Given the description of an element on the screen output the (x, y) to click on. 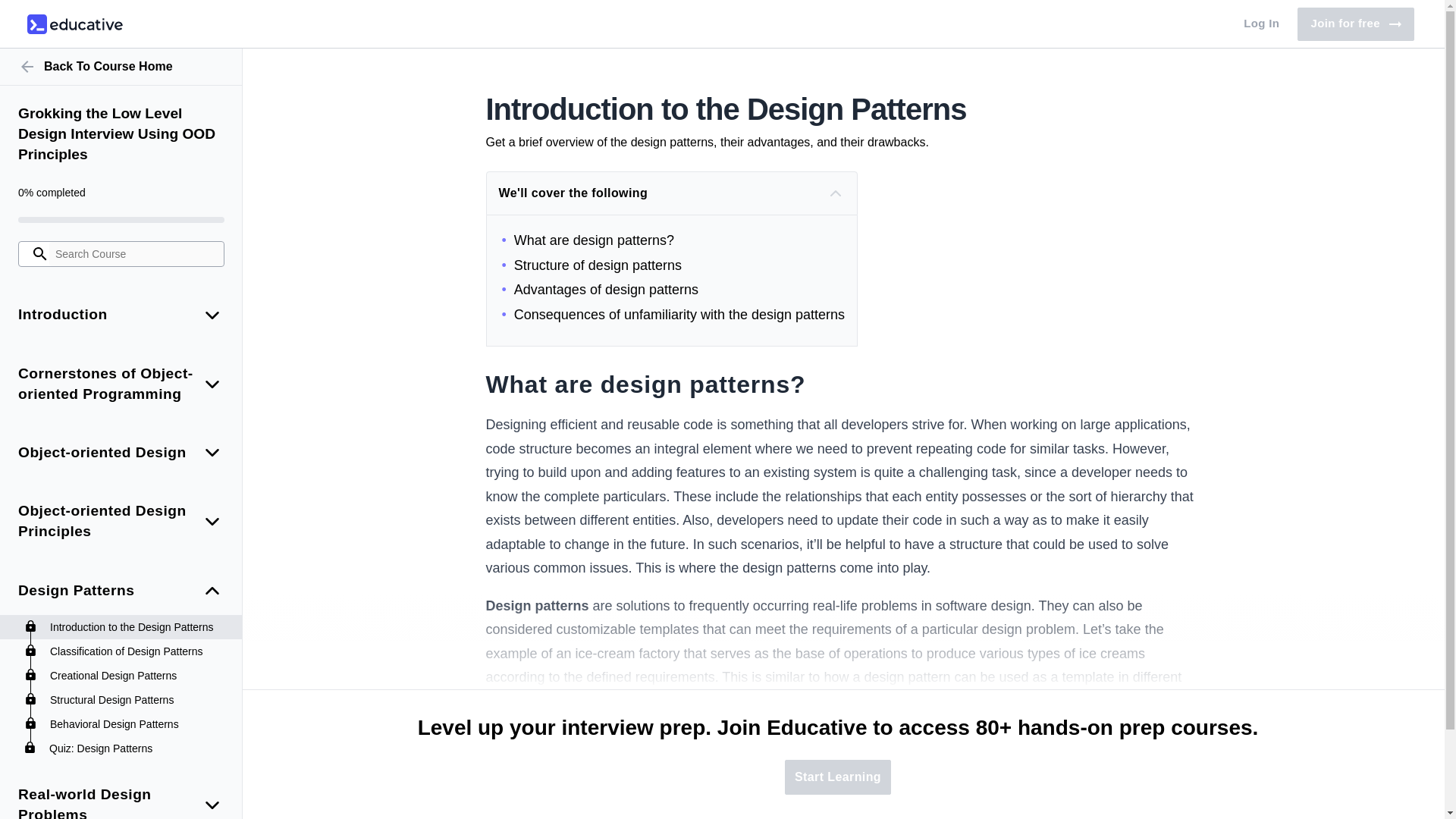
Back To Course Home (121, 66)
Grokking the Low Level Design Interview Using OOD Principles (121, 134)
Log In (1261, 23)
educative.io (74, 23)
